Given the description of an element on the screen output the (x, y) to click on. 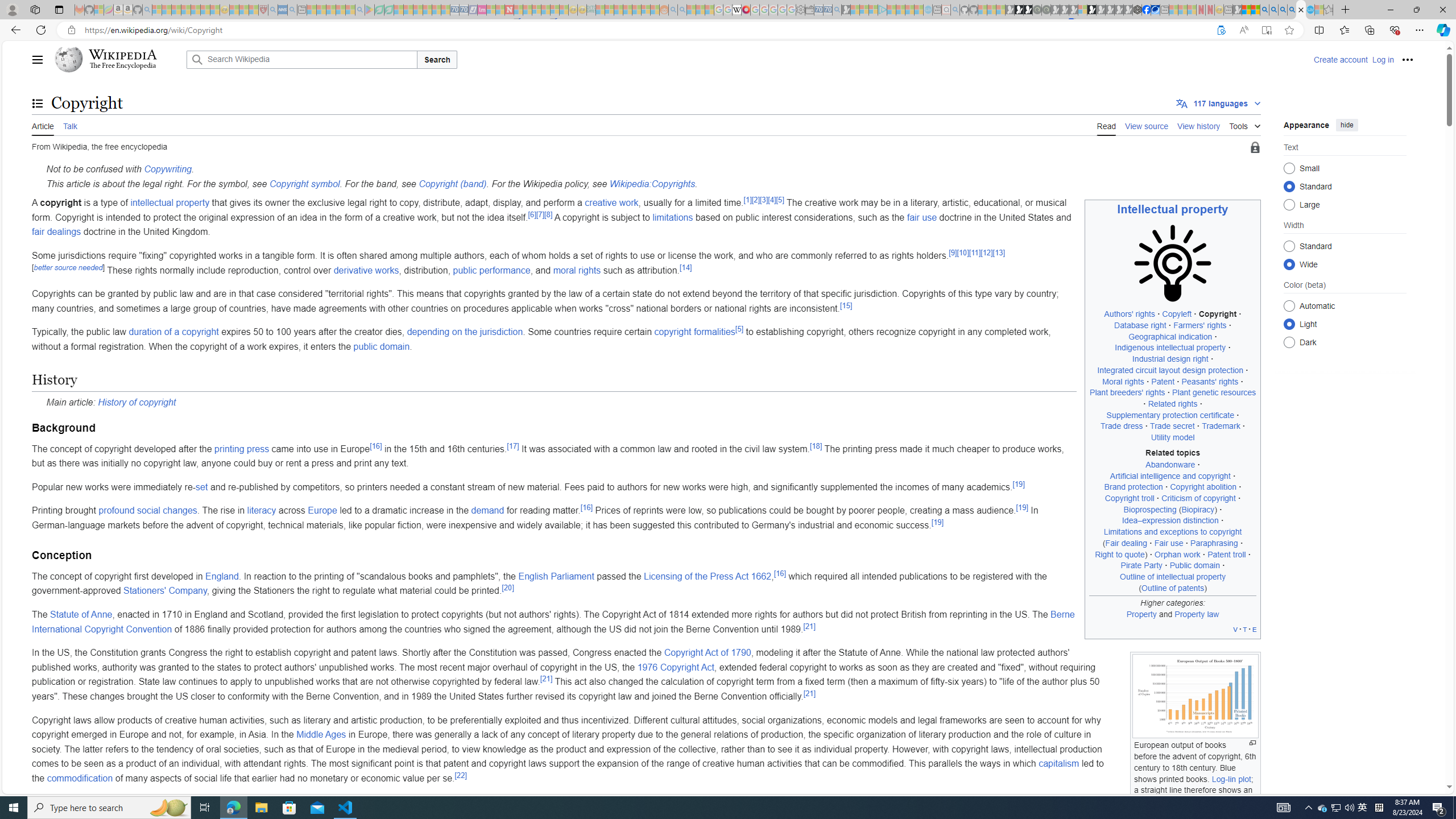
Toggle the table of contents (37, 103)
Personal tools (1407, 59)
Trade dress (1120, 425)
Wikipedia (122, 54)
Create account (1340, 58)
Light (1289, 323)
[6] (531, 213)
Plant breeders' rights (1126, 392)
